Given the description of an element on the screen output the (x, y) to click on. 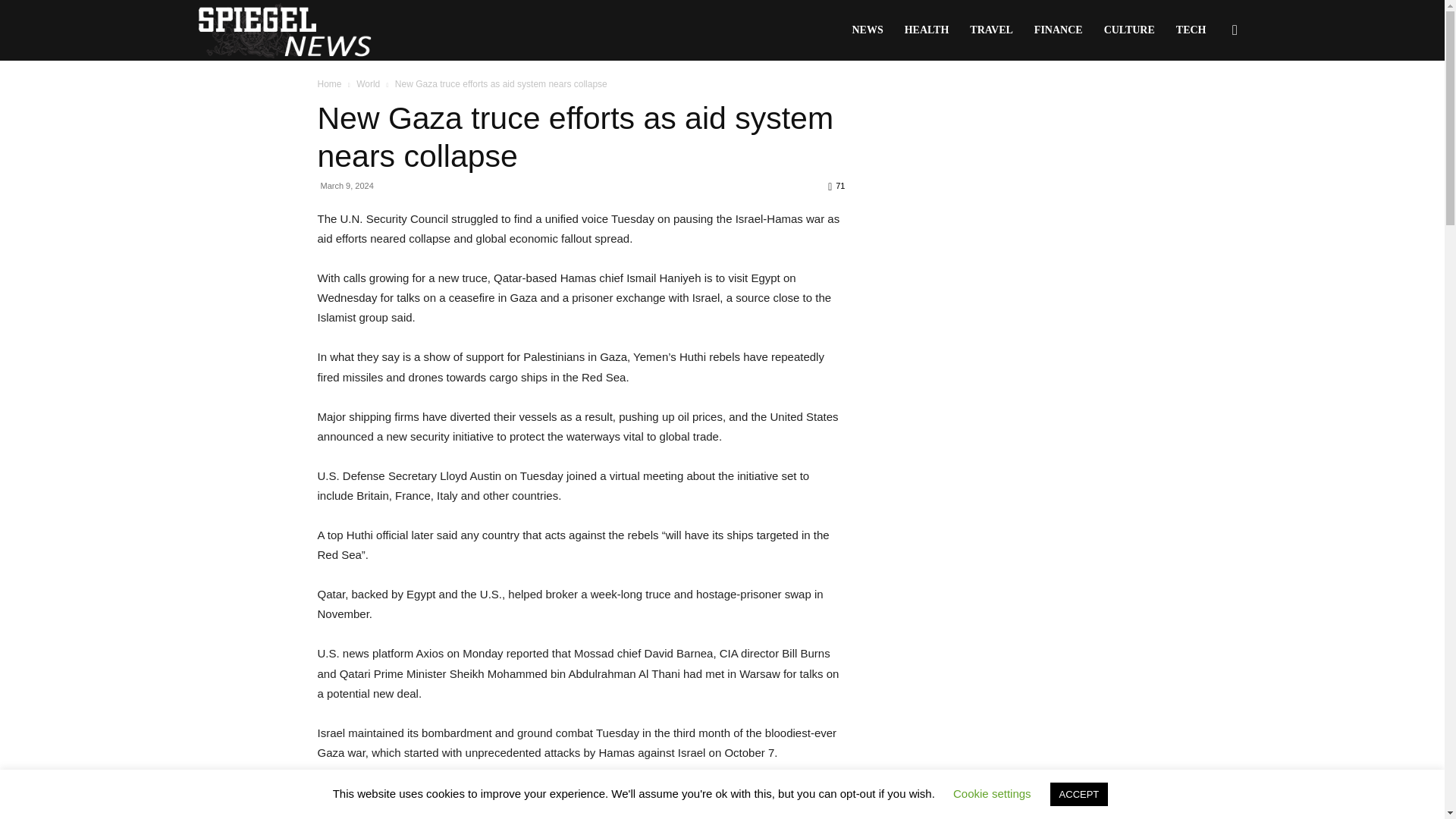
Search (1210, 102)
World (368, 83)
CULTURE (1129, 30)
TRAVEL (991, 30)
Spiegel News (284, 30)
FINANCE (1058, 30)
View all posts in World (368, 83)
HEALTH (926, 30)
Home (328, 83)
